Given the description of an element on the screen output the (x, y) to click on. 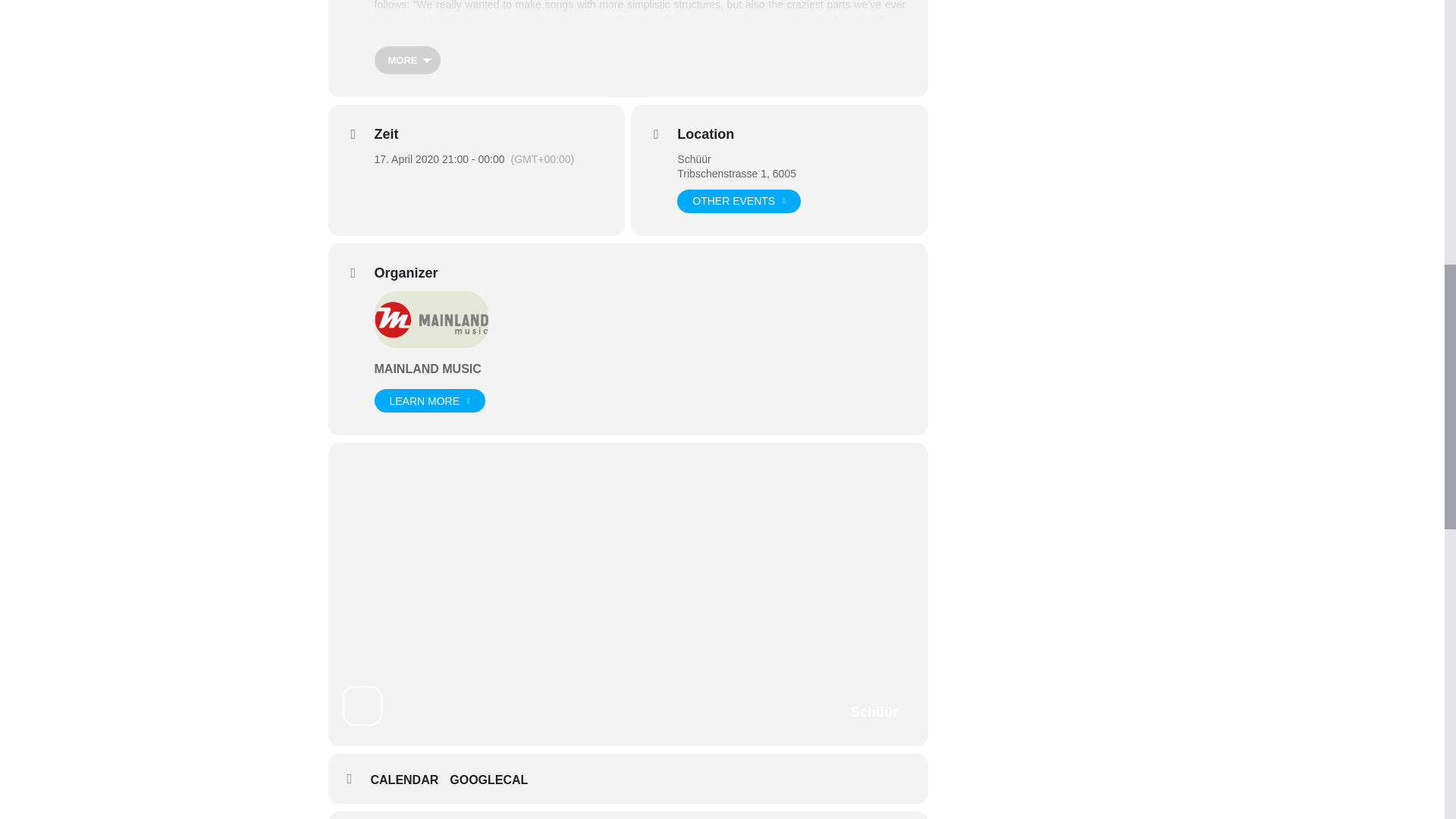
LEARN MORE (429, 400)
Add to google calendar (493, 780)
GOOGLECAL (493, 780)
MAINLAND MUSIC (427, 368)
Add to your calendar (409, 780)
CALENDAR (409, 780)
